Given the description of an element on the screen output the (x, y) to click on. 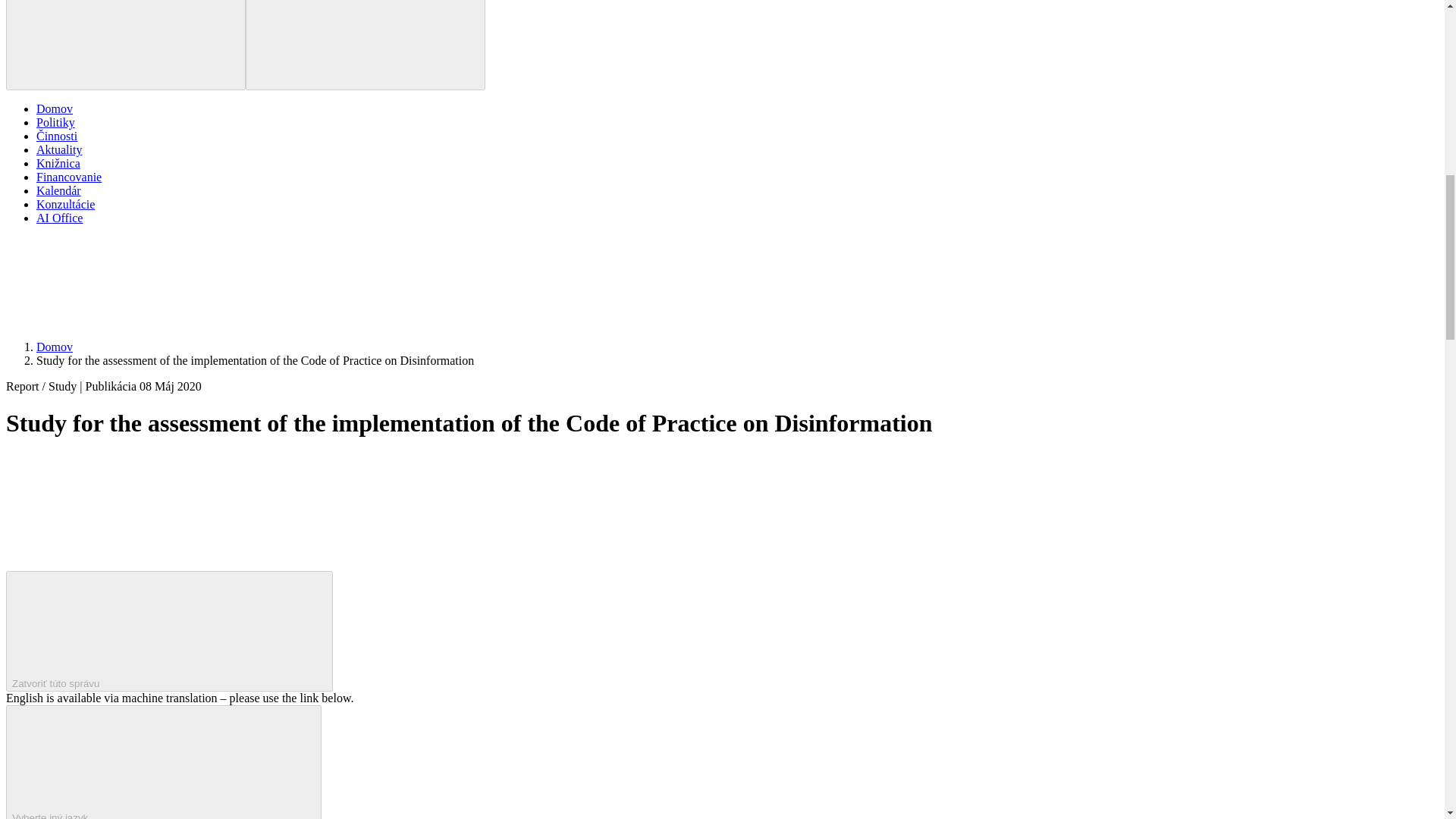
Domov (54, 346)
Domov (54, 108)
Aktuality (58, 149)
AI Office (59, 217)
Financovanie (68, 176)
Politiky (55, 122)
